Given the description of an element on the screen output the (x, y) to click on. 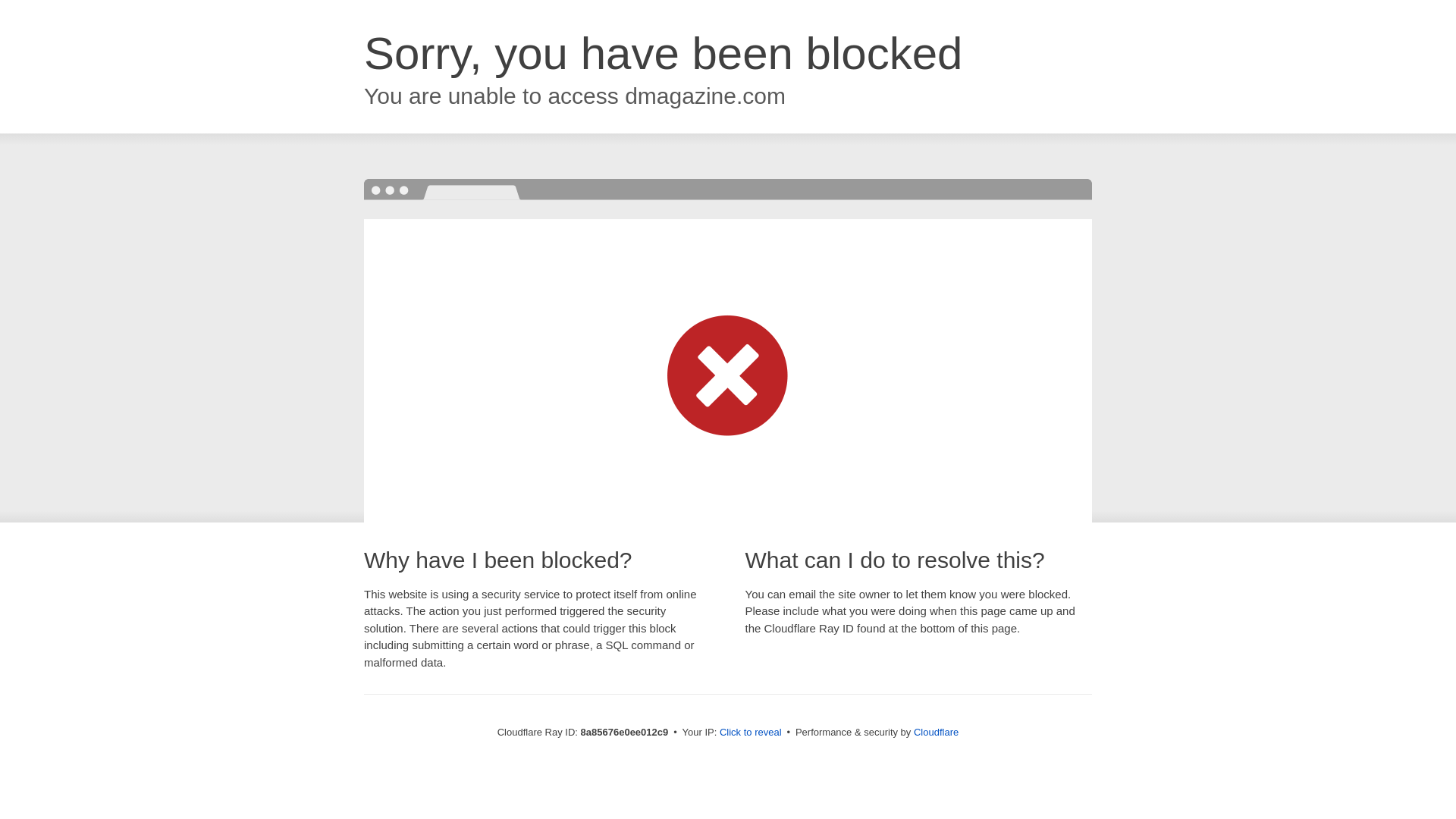
Click to reveal (750, 732)
Cloudflare (936, 731)
